Given the description of an element on the screen output the (x, y) to click on. 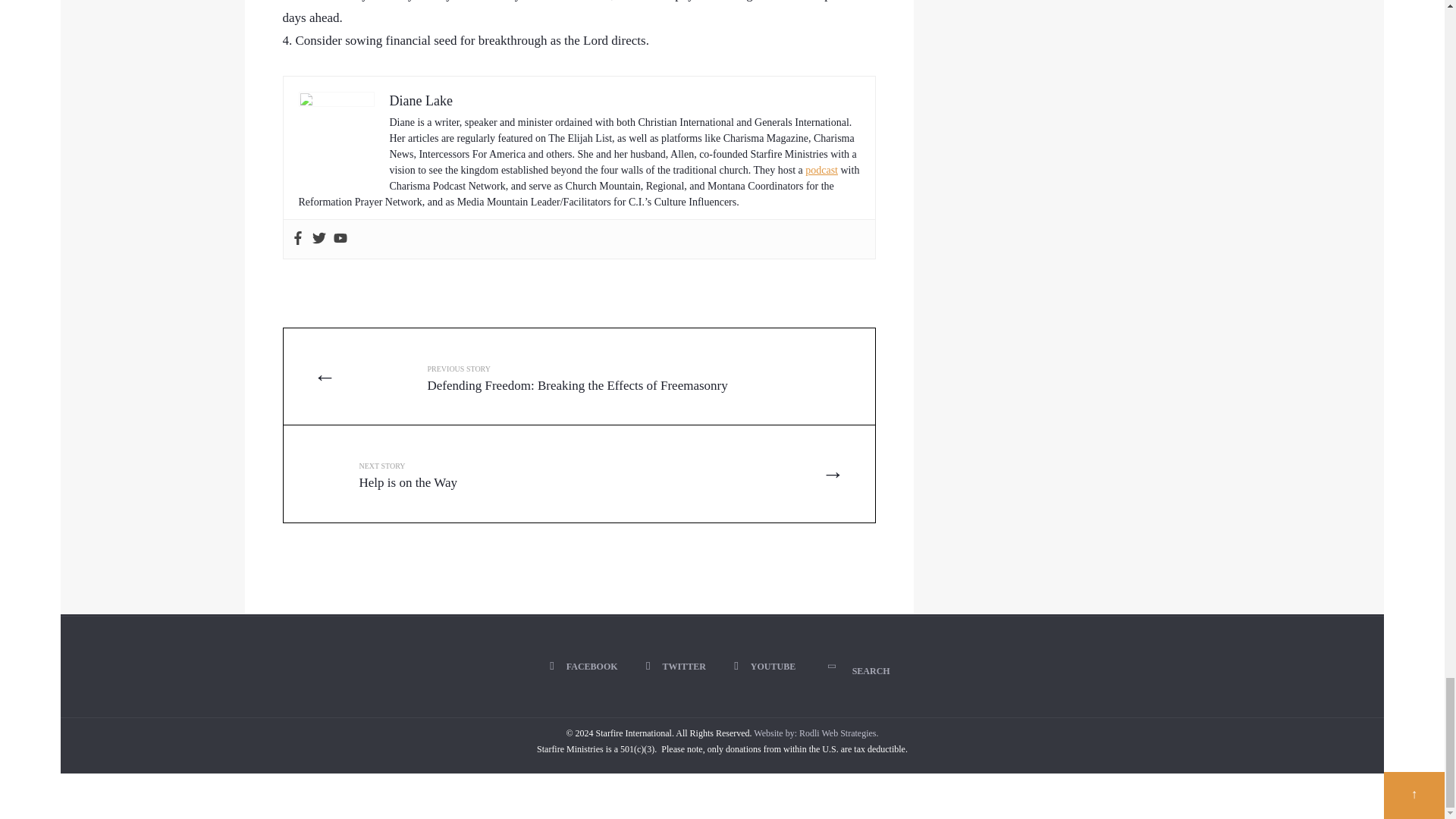
Twitter (678, 666)
podcast (821, 170)
YouTube (767, 666)
Diane Lake (421, 100)
Facebook (510, 473)
